Given the description of an element on the screen output the (x, y) to click on. 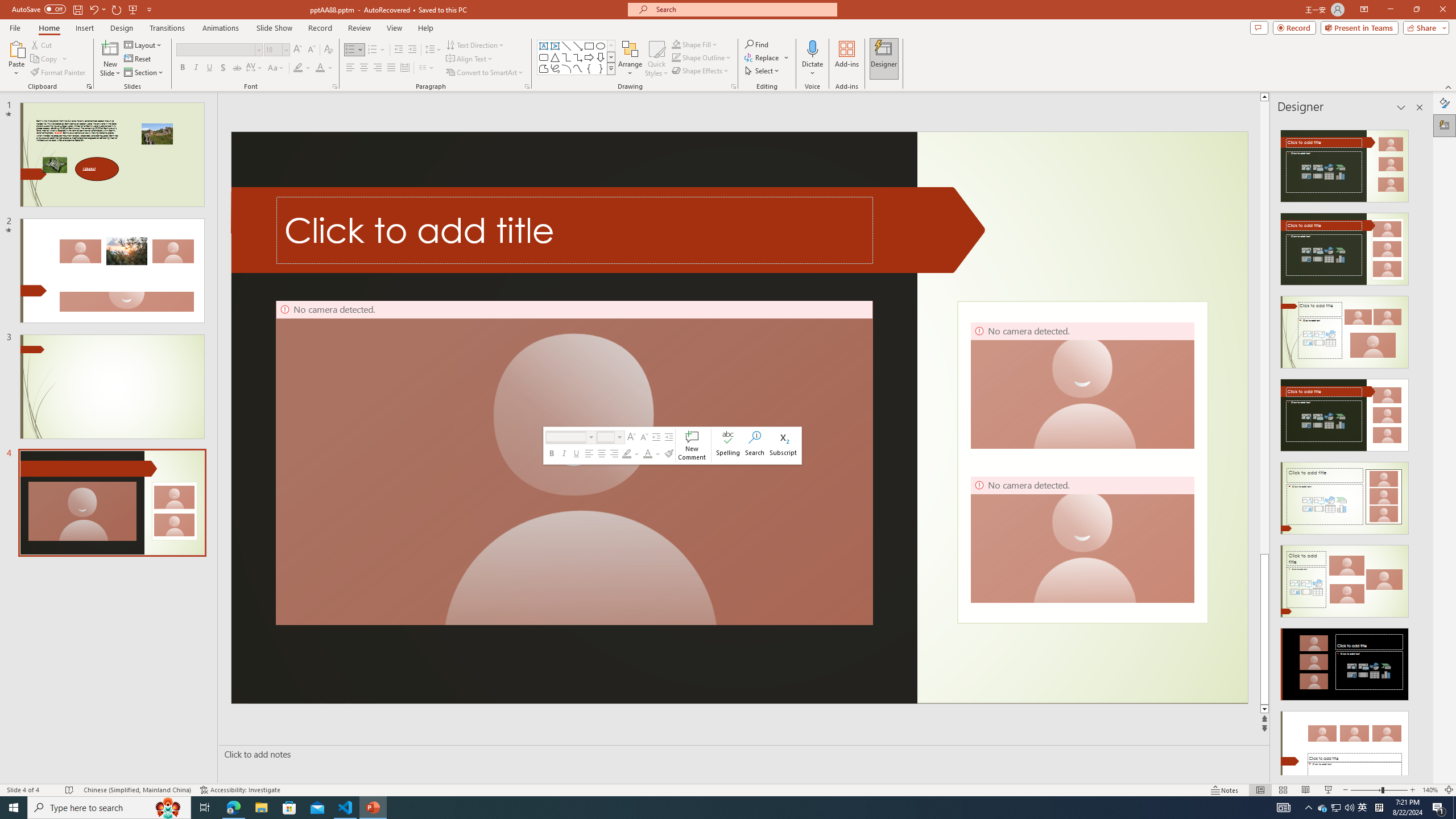
Decrease Font Size (310, 49)
Paragraph... (526, 85)
Shape Effects (700, 69)
Class: NetUIImage (610, 68)
Review (359, 28)
Clear Formatting (327, 49)
Slide Sorter (1282, 790)
Font (215, 49)
Bullets (349, 49)
Align Right (377, 67)
Decorative Locked (1082, 462)
Copy (45, 58)
Numbering (376, 49)
